Given the description of an element on the screen output the (x, y) to click on. 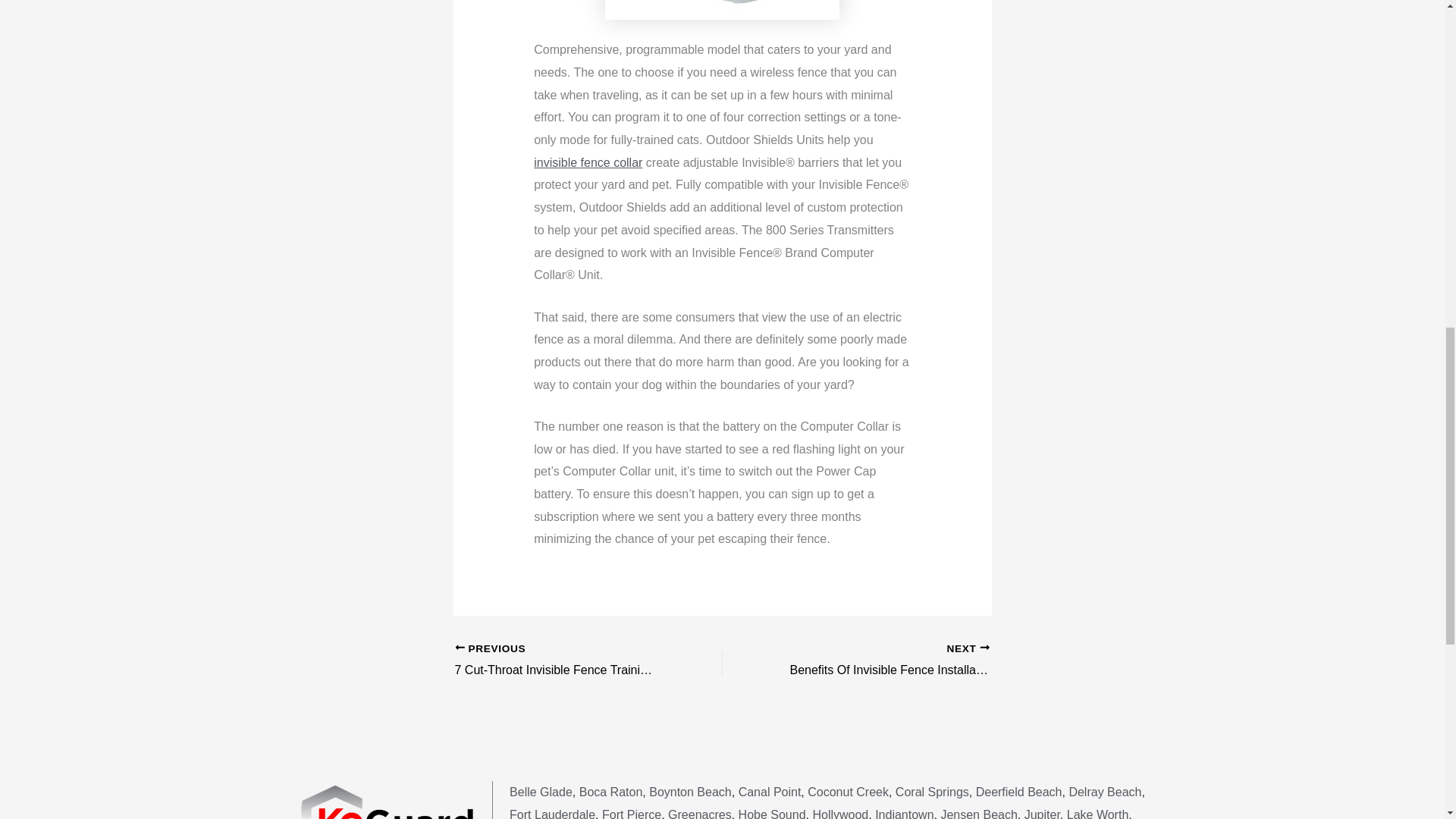
Belle Glade (540, 791)
invisible fence collar (588, 162)
Boynton Beach (690, 791)
Coconut Creek (848, 791)
7 Cut-Throat Invisible Fence Training Ways That Never Fails (561, 660)
Boca Raton (611, 791)
Canal Point (770, 791)
Deerfield Beach (1018, 791)
Coral Springs (932, 791)
Benefits Of Invisible Fence Installation (882, 660)
